Given the description of an element on the screen output the (x, y) to click on. 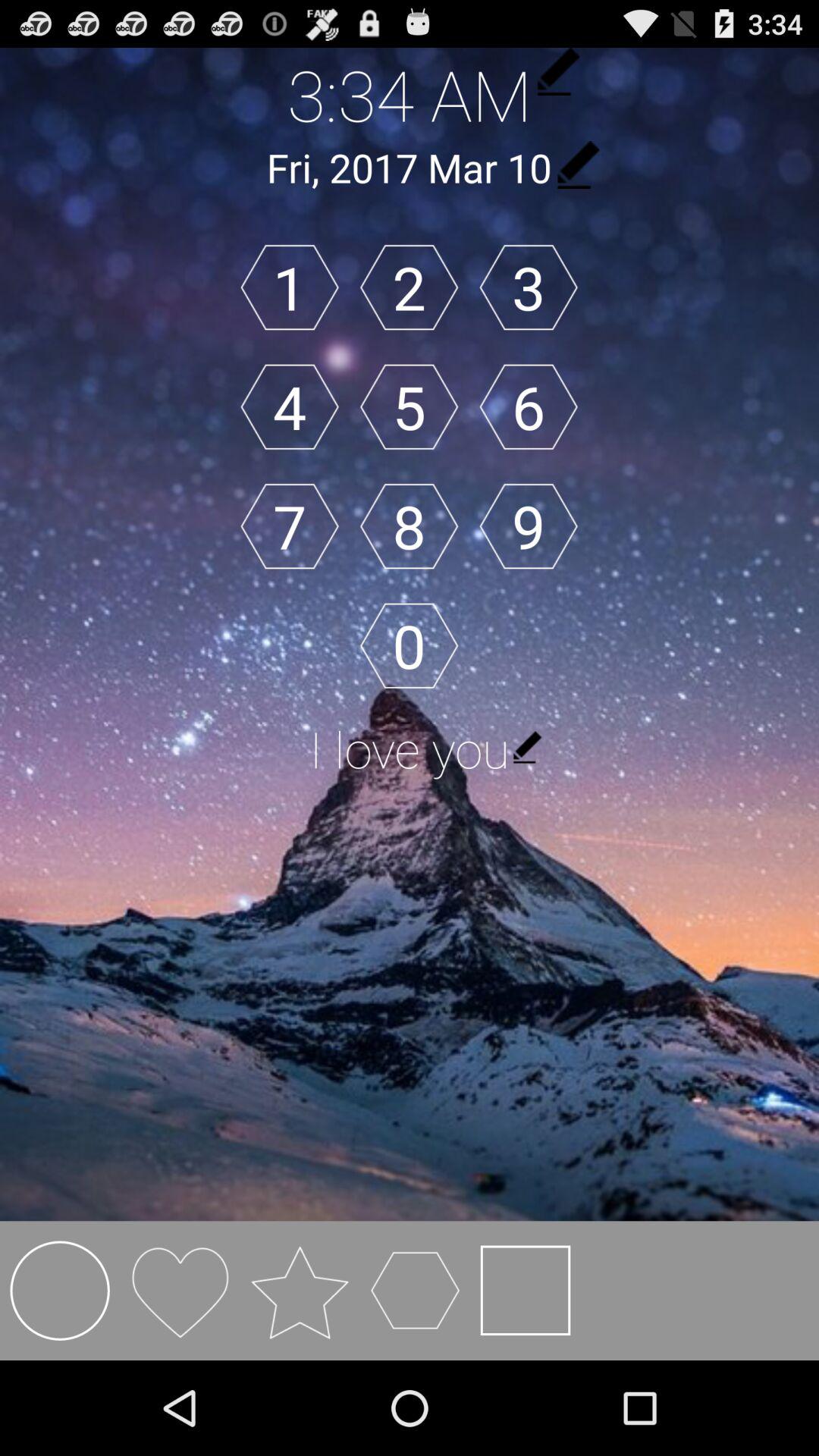
swipe to 6 (528, 406)
